Given the description of an element on the screen output the (x, y) to click on. 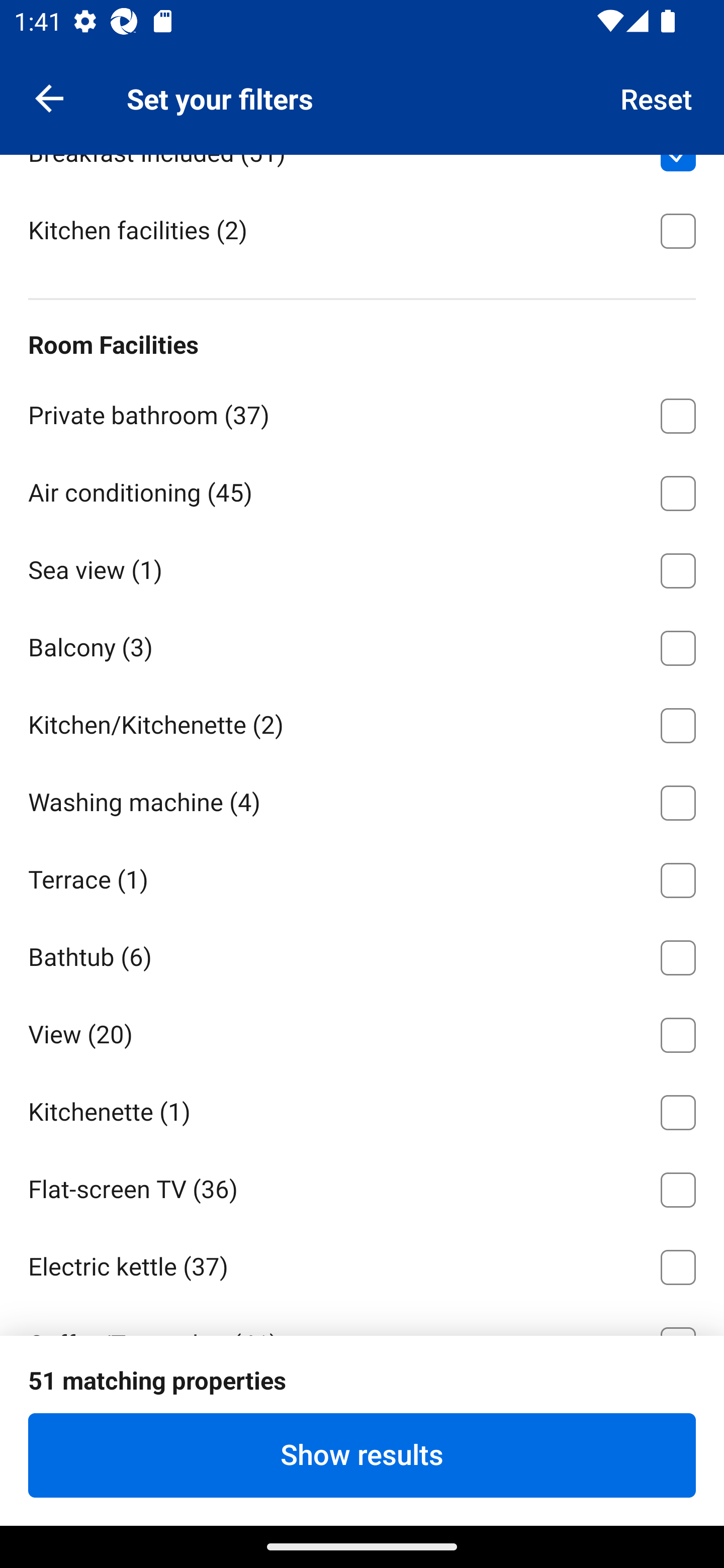
Navigate up (49, 97)
Reset (656, 97)
Kitchen facilities ⁦(2) (361, 229)
Private bathroom ⁦(37) (361, 412)
Air conditioning ⁦(45) (361, 489)
Sea view ⁦(1) (361, 567)
Balcony ⁦(3) (361, 644)
Kitchen/Kitchenette ⁦(2) (361, 721)
Washing machine ⁦(4) (361, 799)
Terrace ⁦(1) (361, 876)
Bathtub ⁦(6) (361, 953)
View ⁦(20) (361, 1031)
Kitchenette ⁦(1) (361, 1108)
Flat-screen TV ⁦(36) (361, 1185)
Electric kettle ⁦(37) (361, 1263)
Show results (361, 1454)
